Given the description of an element on the screen output the (x, y) to click on. 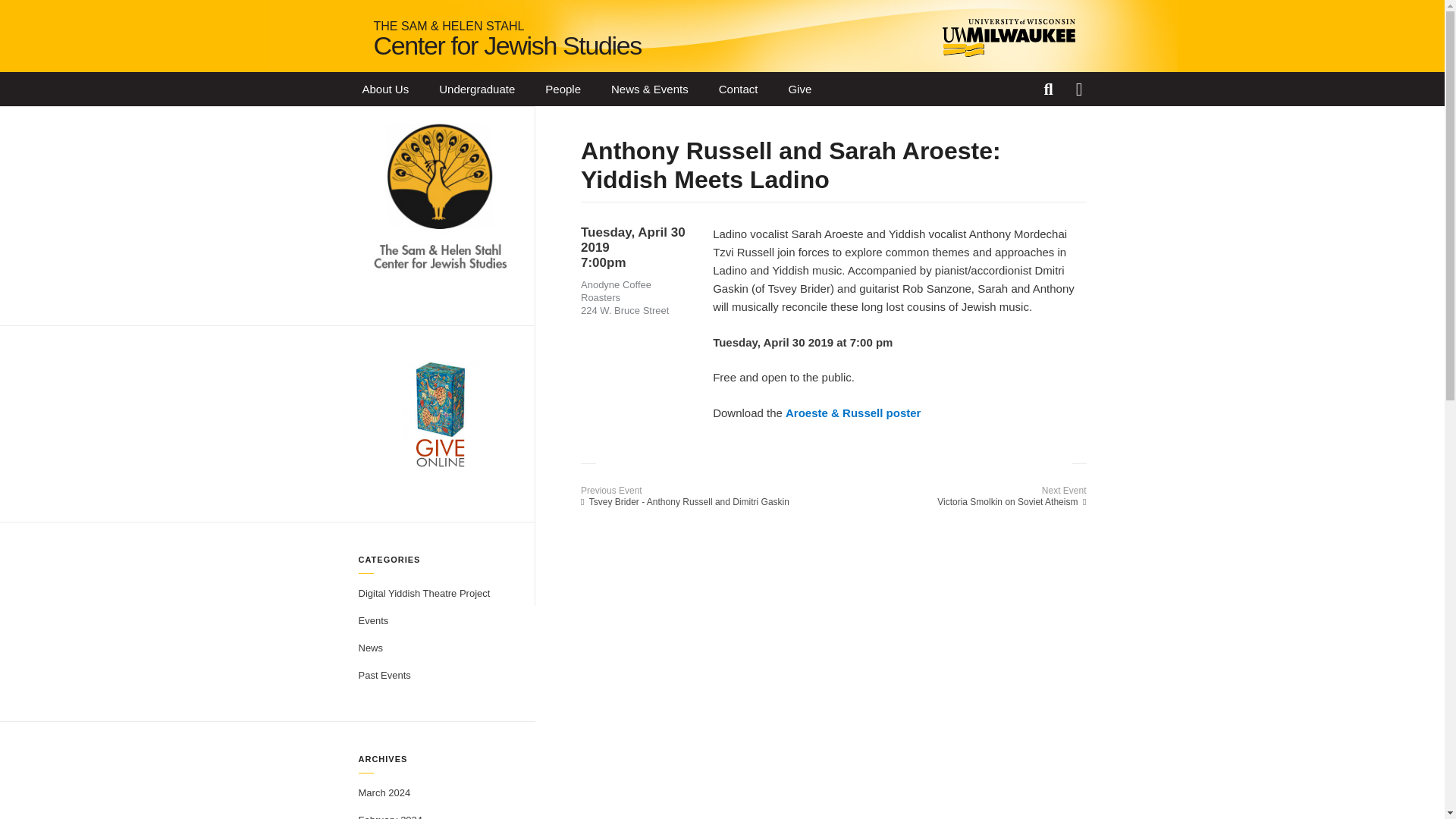
Undergraduate (476, 89)
About Us (386, 89)
The Sam and Helen Stahl Center for Jewish Studies (506, 39)
